Given the description of an element on the screen output the (x, y) to click on. 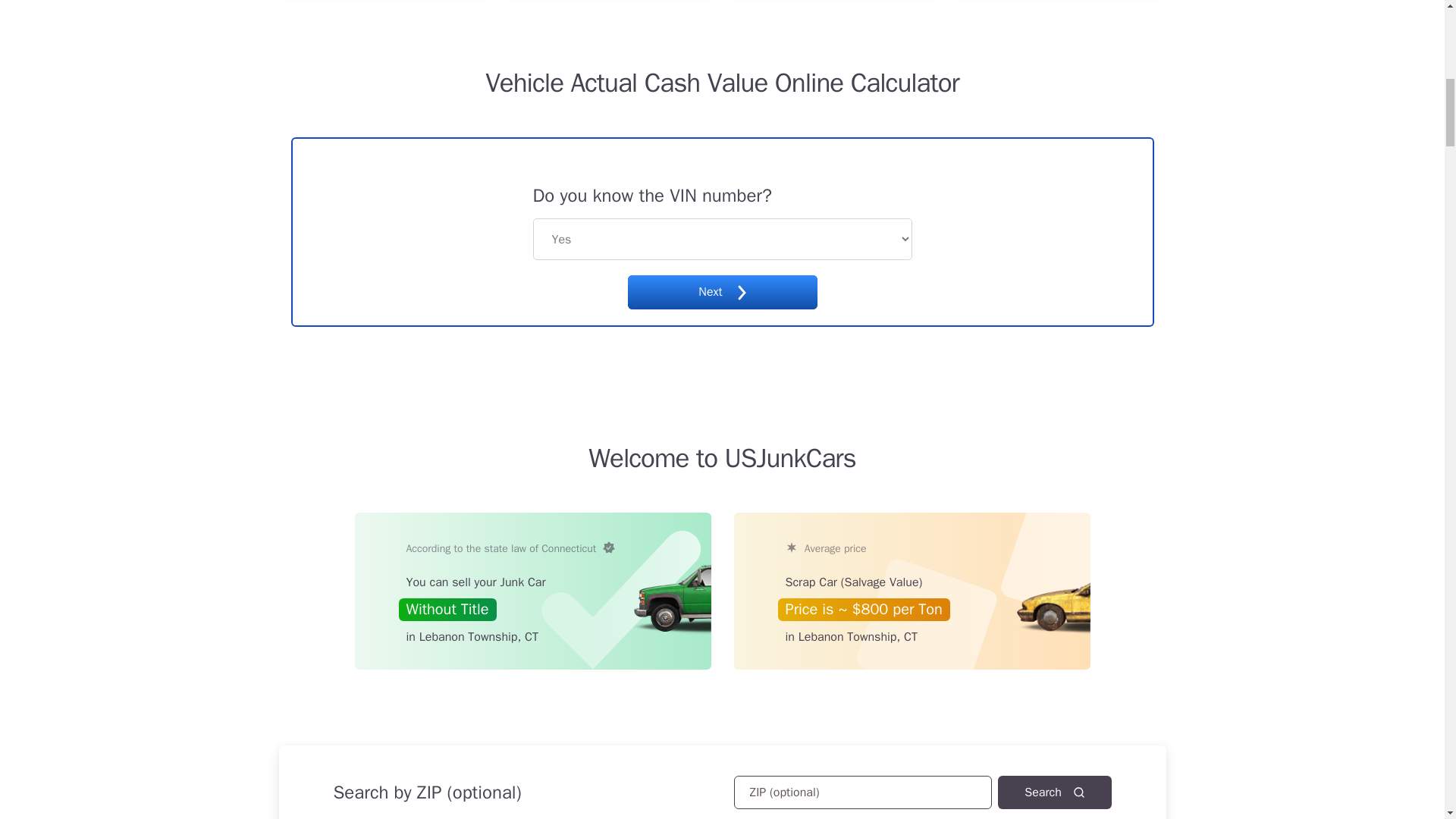
Search (1054, 792)
Next (721, 292)
